Given the description of an element on the screen output the (x, y) to click on. 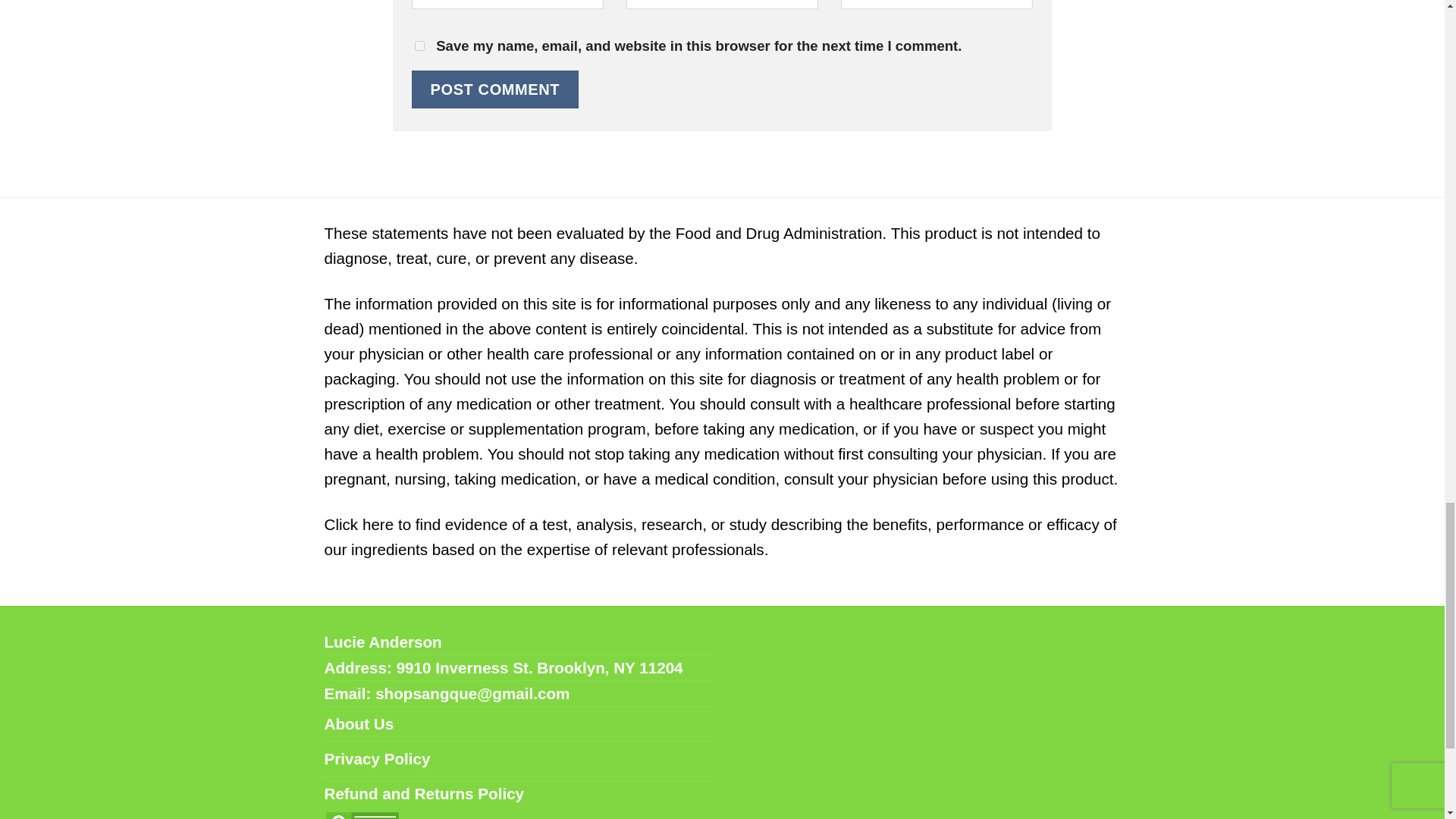
Privacy Policy (377, 758)
Post Comment (494, 89)
About Us (359, 723)
yes (418, 45)
Post Comment (494, 89)
